Given the description of an element on the screen output the (x, y) to click on. 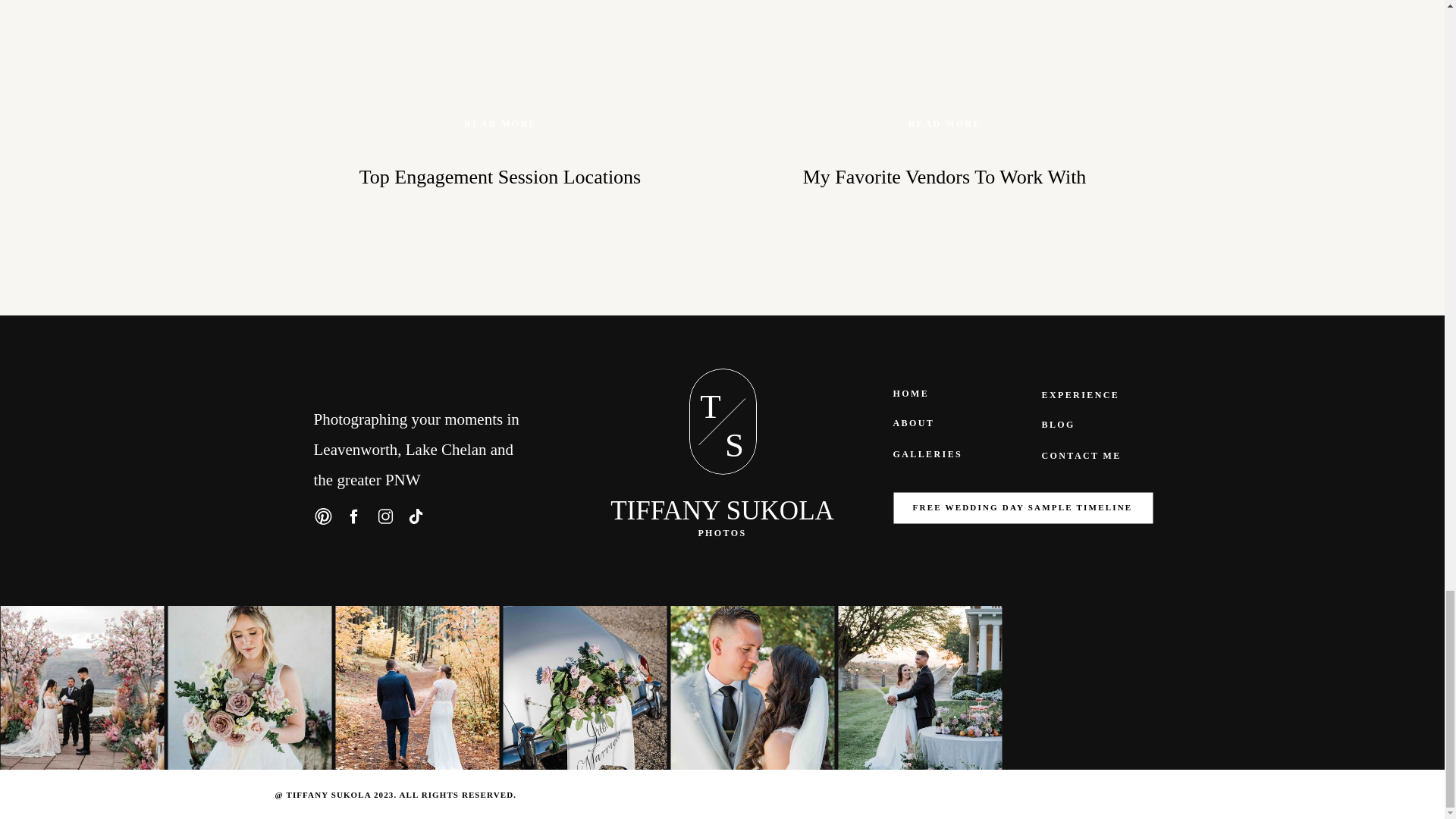
Sagecliffe Resort wedding (81, 687)
Leavenworth wedding photographer1 (249, 687)
Moore Mansion wedding (919, 687)
Leavenworth wedding (751, 687)
Moore Mansion wedding photos-122 (584, 687)
leavenworth wedding photographer 2 (416, 687)
